Given the description of an element on the screen output the (x, y) to click on. 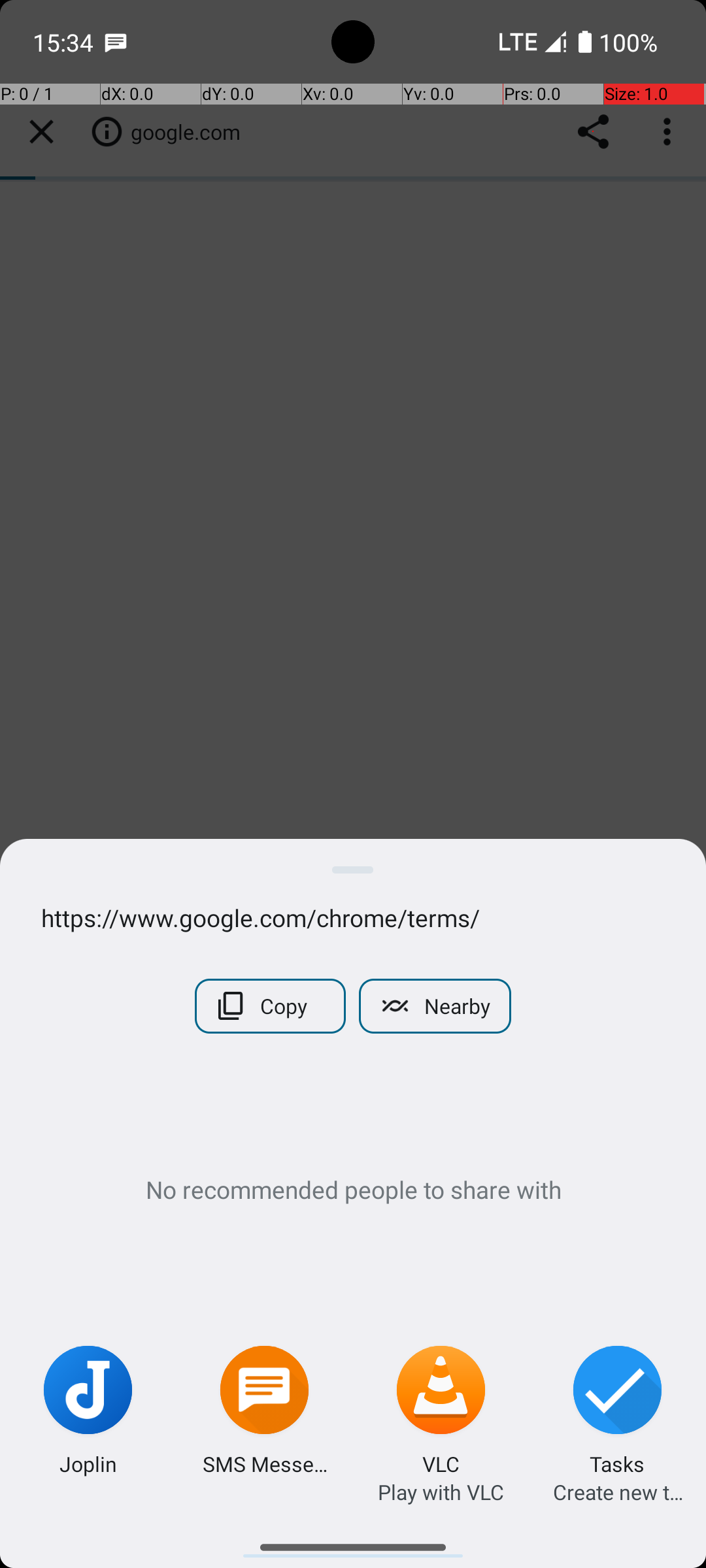
https://www.google.com/chrome/terms/ Element type: android.widget.TextView (352, 917)
Copy Element type: android.widget.Button (269, 1005)
Play with VLC Element type: android.widget.TextView (440, 1491)
SMS Messenger notification: +15505050843 Element type: android.widget.ImageView (115, 41)
